Given the description of an element on the screen output the (x, y) to click on. 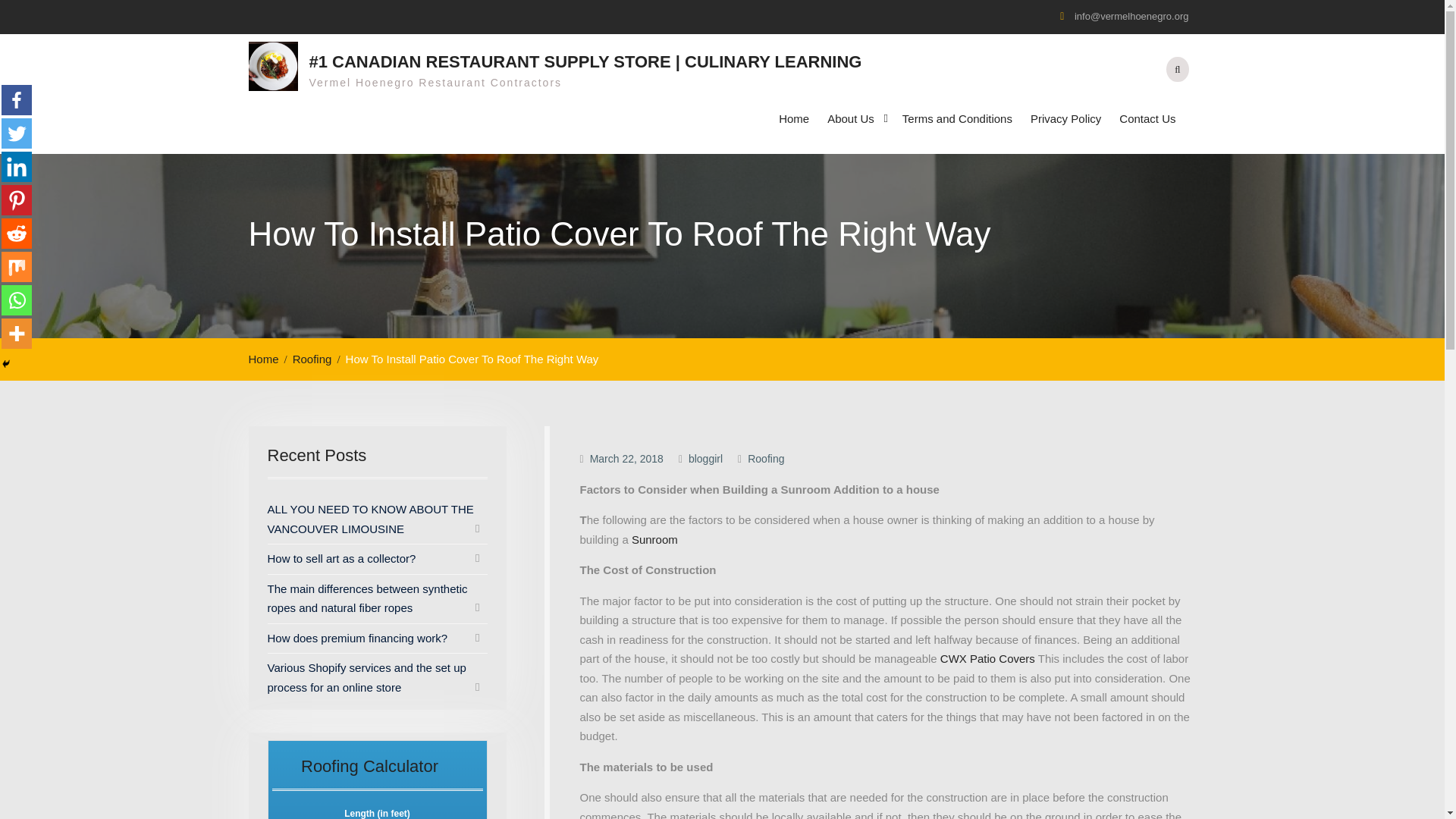
Twitter (16, 132)
Mix (16, 266)
Privacy Policy (1065, 118)
Linkedin (16, 166)
Sunroom (654, 539)
Home (267, 358)
Reddit (16, 233)
Home (794, 118)
About Us (855, 118)
Roofing (766, 458)
bloggirl (705, 458)
Contact Us (1147, 118)
Facebook (16, 100)
Terms and Conditions (957, 118)
Roofing (316, 358)
